Given the description of an element on the screen output the (x, y) to click on. 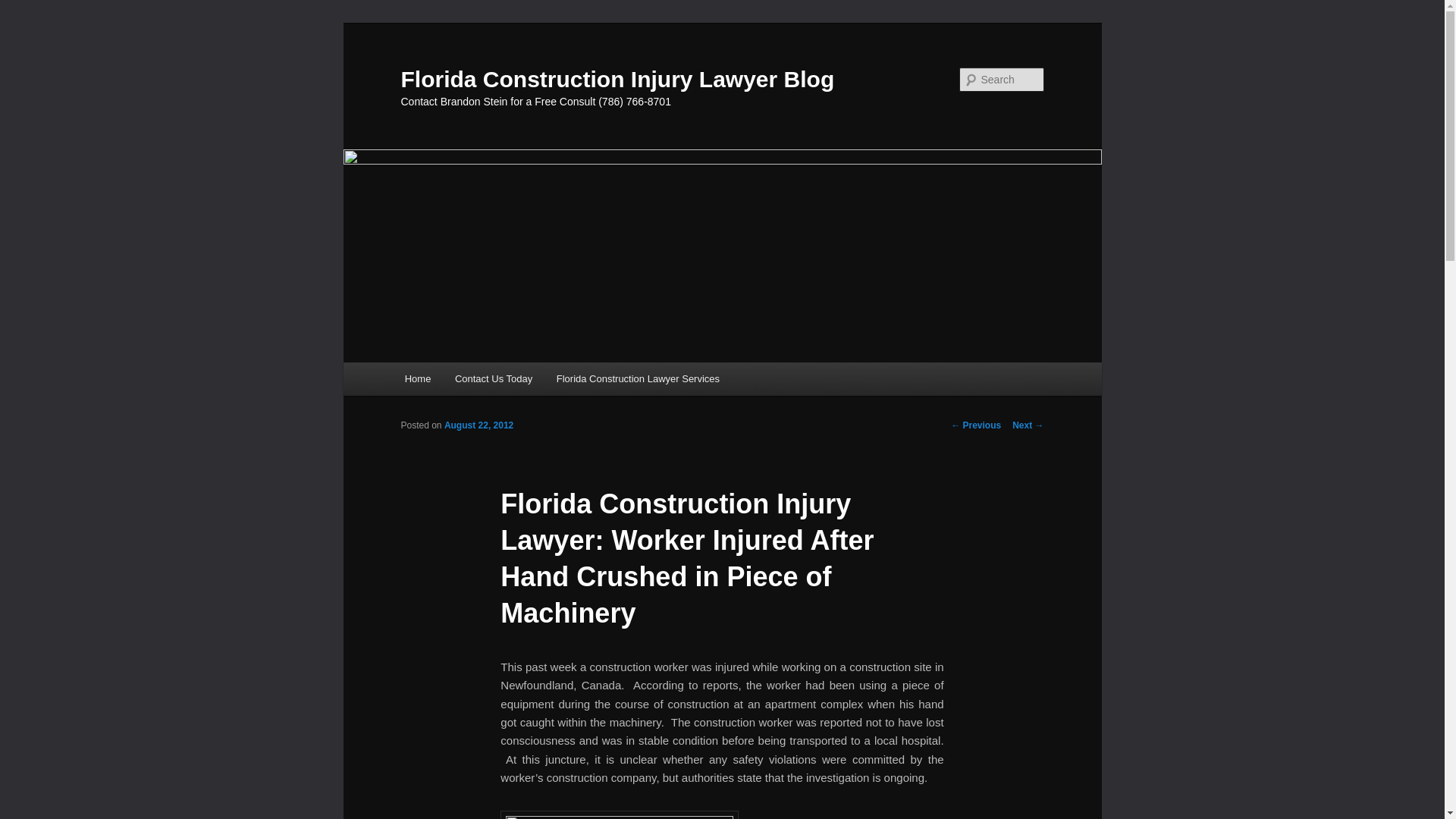
Skip to secondary content (479, 381)
10:23 am (478, 425)
Florida Construction Injury Lawyer Blog (617, 78)
Contact Us Today (493, 378)
Skip to secondary content (479, 381)
Home (417, 378)
Search (24, 8)
Florida Construction Injury Lawyer Blog (617, 78)
Skip to primary content (472, 381)
Skip to primary content (472, 381)
